Given the description of an element on the screen output the (x, y) to click on. 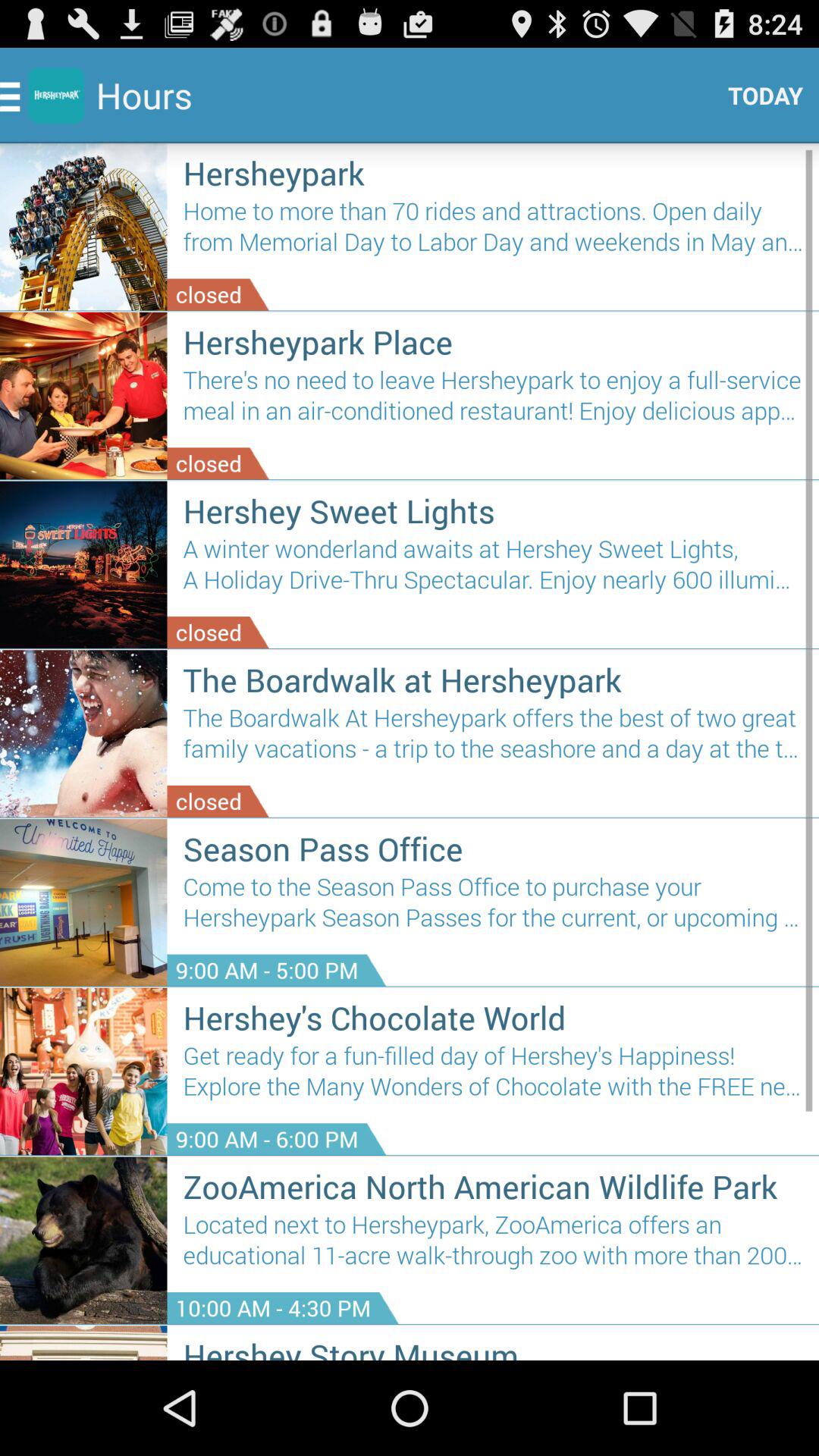
swipe to the get ready for icon (493, 1077)
